Given the description of an element on the screen output the (x, y) to click on. 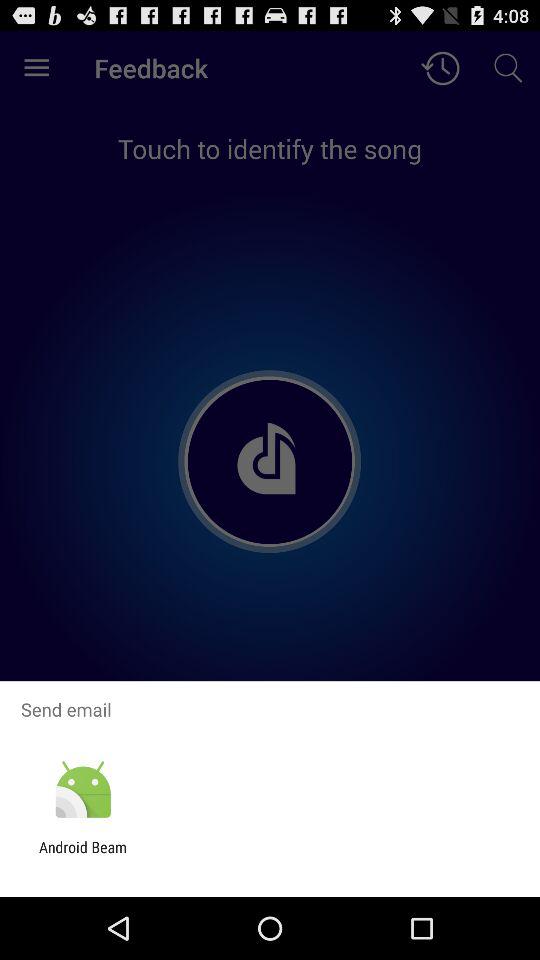
turn off item below send email (82, 789)
